Given the description of an element on the screen output the (x, y) to click on. 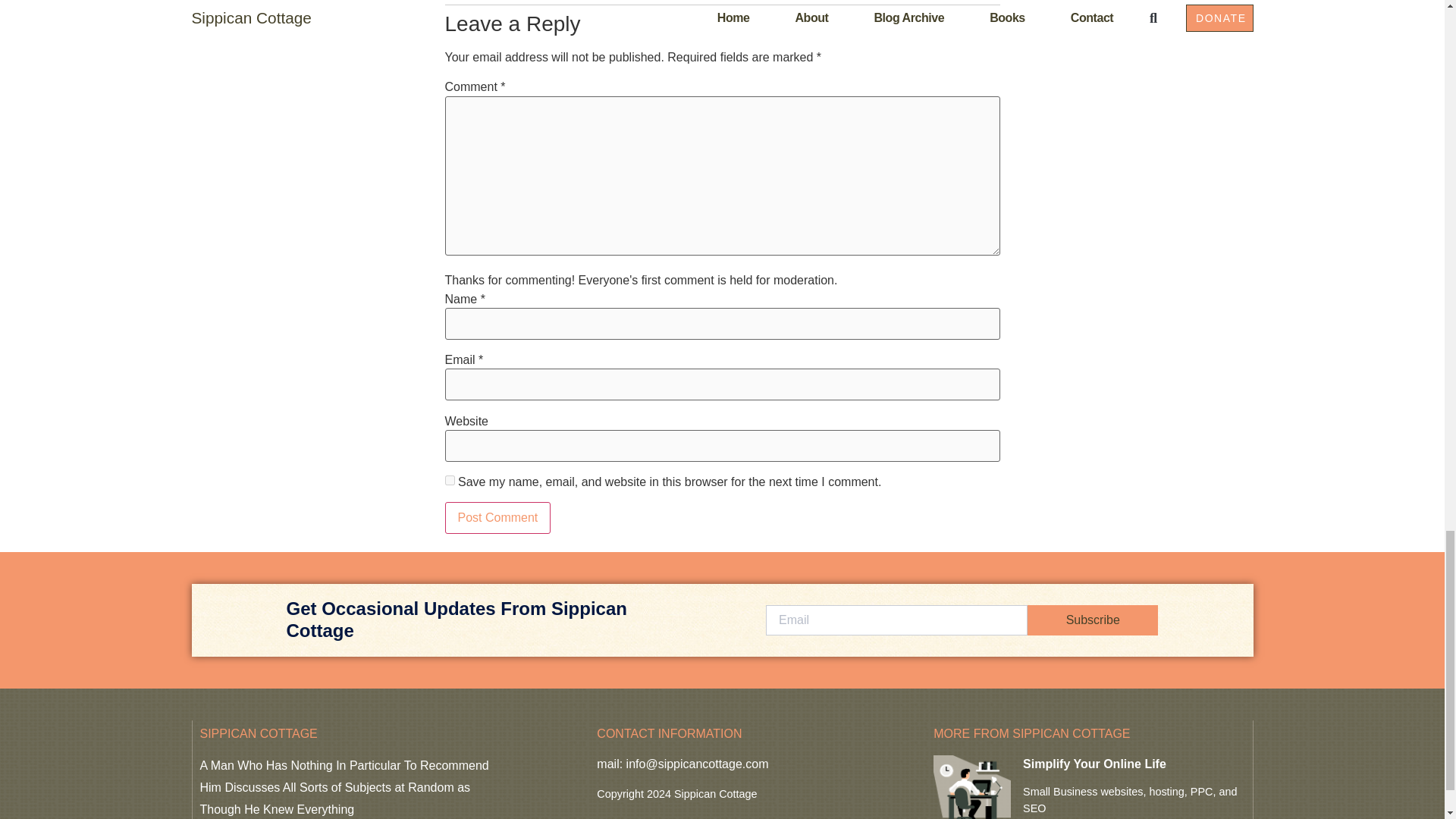
Subscribe (1092, 620)
yes (449, 480)
Post Comment (497, 517)
Post Comment (497, 517)
